Given the description of an element on the screen output the (x, y) to click on. 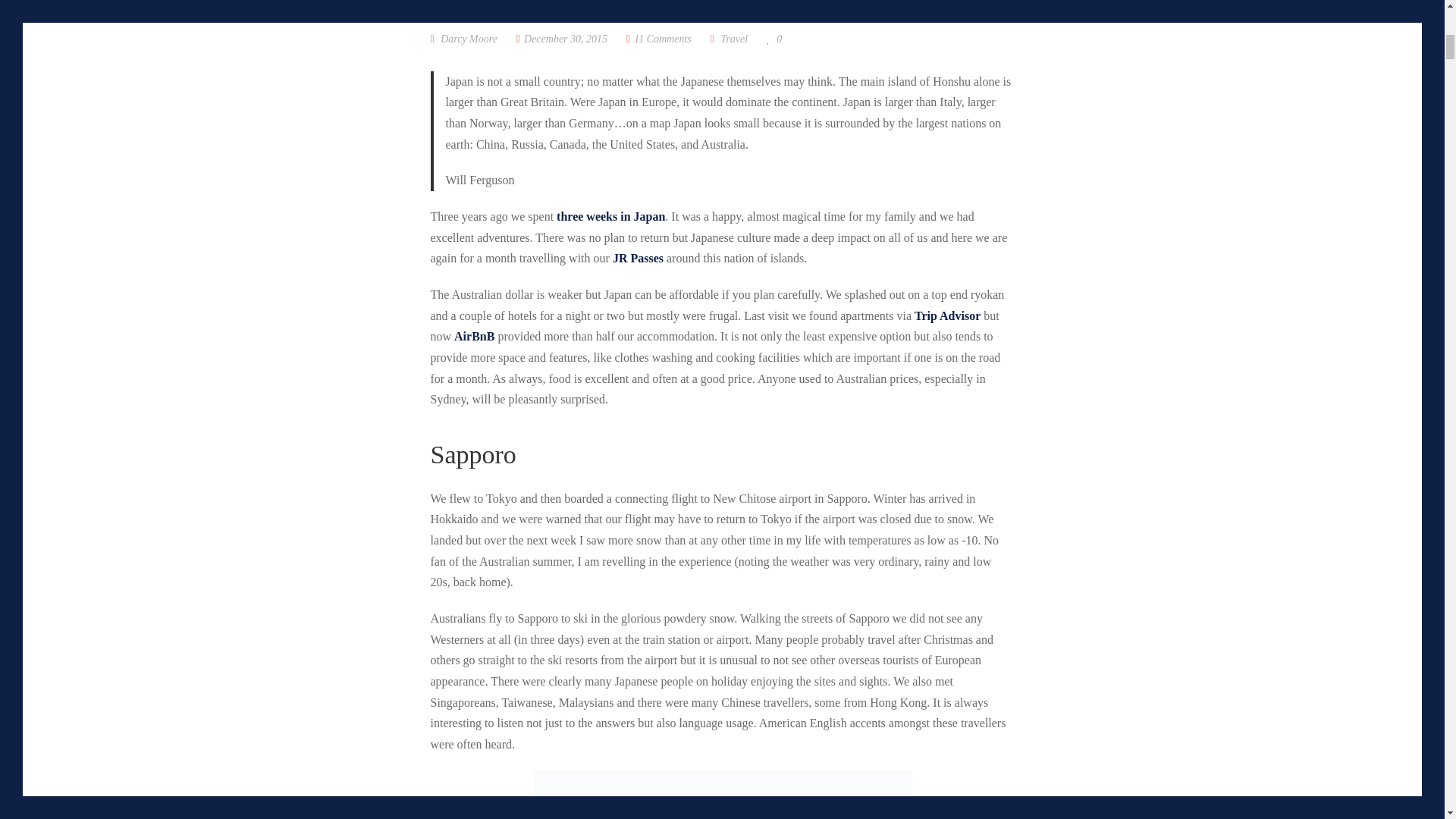
Browse Author Articles (463, 39)
11 Comments (658, 39)
December 30, 2015 (561, 39)
AirBnB (474, 336)
Darcy Moore (463, 39)
Trip Advisor (946, 315)
0 (774, 39)
three weeks in Japan (610, 215)
Travelling in Japan: Hokkaido (561, 39)
Travel (734, 39)
